Given the description of an element on the screen output the (x, y) to click on. 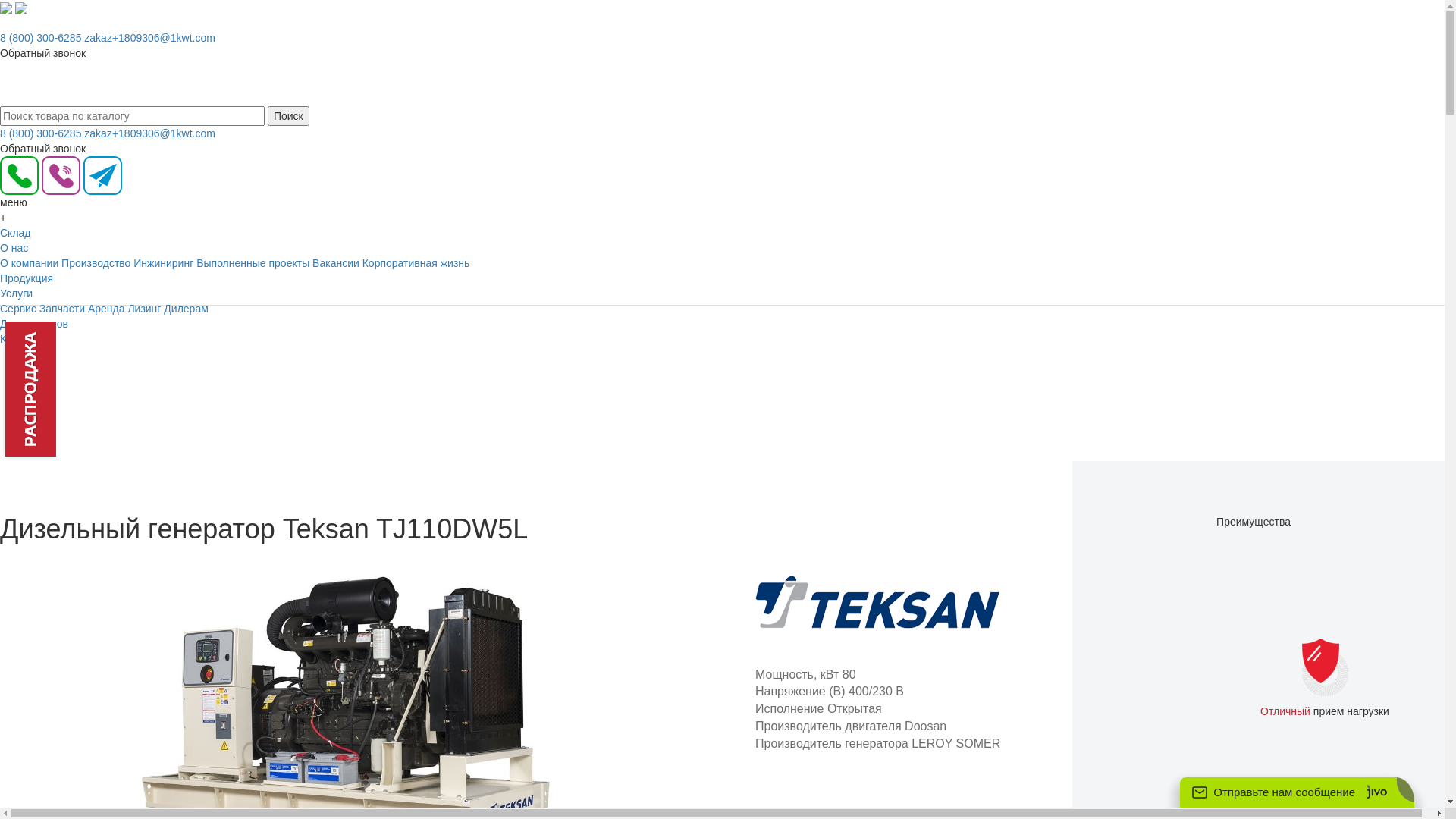
  Element type: text (1, 313)
zakaz+1809306@1kwt.com Element type: text (149, 133)
  Element type: text (13, 83)
  Element type: text (24, 83)
8 (800) 300-6285 Element type: text (40, 133)
  Element type: text (18, 83)
8 (800) 300-6285 Element type: text (40, 37)
zakaz+1809306@1kwt.com Element type: text (149, 37)
  Element type: text (7, 83)
  Element type: text (1, 83)
  Element type: text (1, 98)
  Element type: text (1, 22)
